Given the description of an element on the screen output the (x, y) to click on. 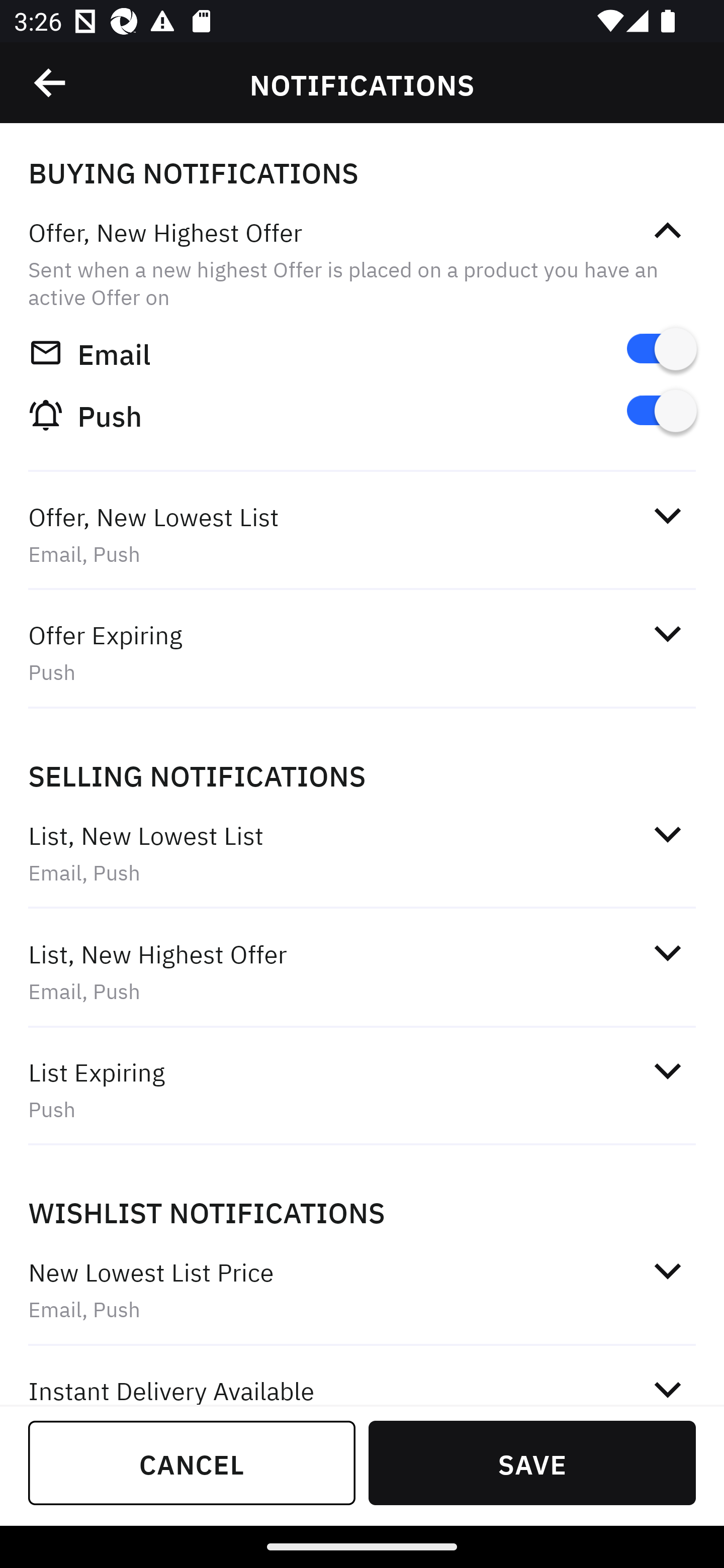
 (50, 83)
 (667, 231)
Offer, New Lowest List  Email, Push (361, 534)
 (667, 514)
Offer Expiring  Push (361, 652)
 (667, 633)
List, New Lowest List  Email, Push (361, 852)
 (667, 834)
List, New Highest Offer  Email, Push (361, 971)
 (667, 952)
List Expiring  Push (361, 1089)
 (667, 1070)
New Lowest List Price  Email, Push (361, 1290)
 (667, 1270)
Instant Delivery Available  (361, 1377)
 (667, 1385)
CANCEL (191, 1462)
SAVE (531, 1462)
